Given the description of an element on the screen output the (x, y) to click on. 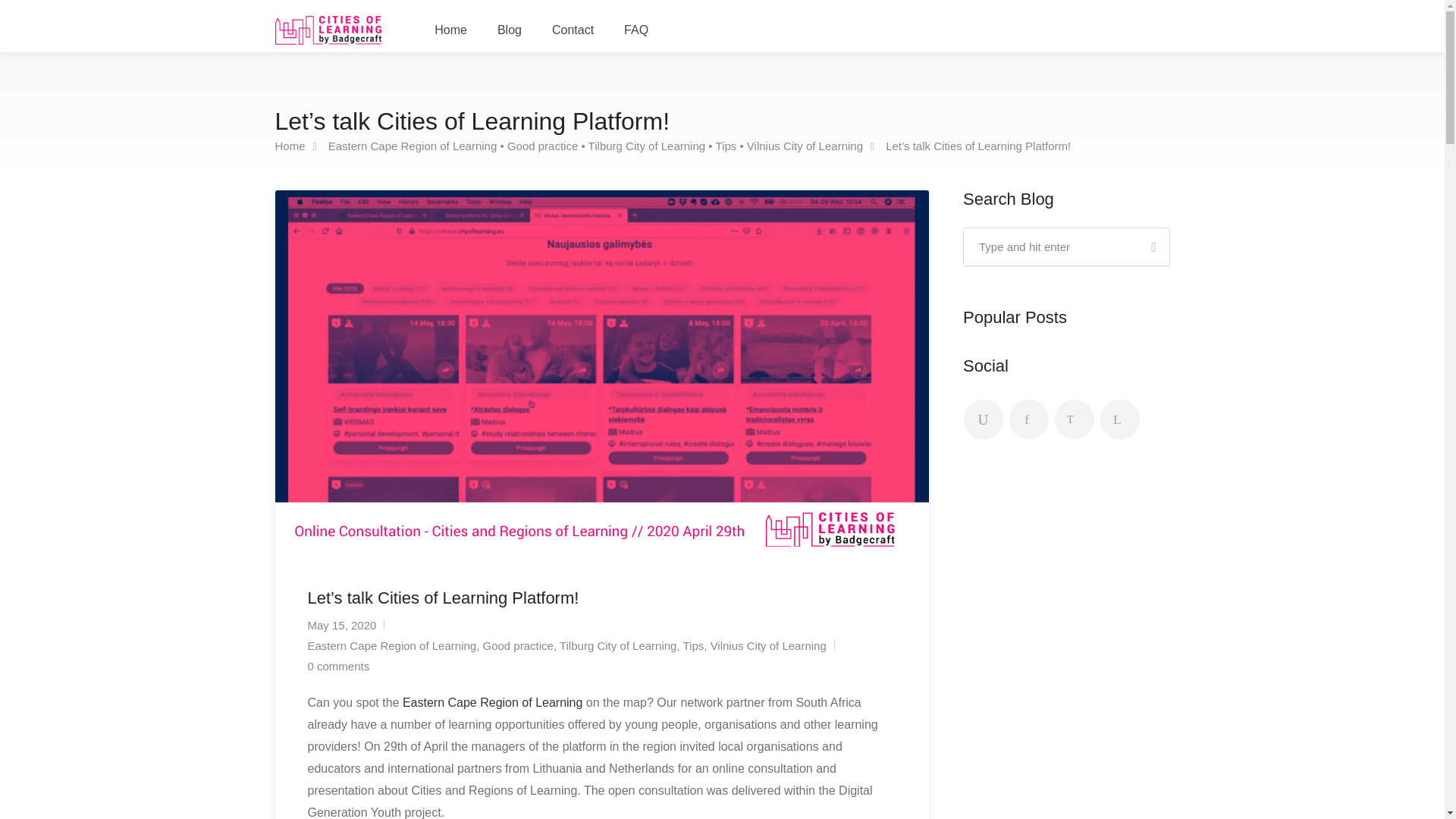
Eastern Cape Region of Learning (413, 145)
Tips (725, 145)
Good practice (542, 145)
Blog (509, 29)
Home (451, 29)
Home (289, 145)
Eastern Cape Region of Learning (494, 702)
Vilnius City of Learning (804, 145)
FAQ (635, 29)
Contact (572, 29)
